Given the description of an element on the screen output the (x, y) to click on. 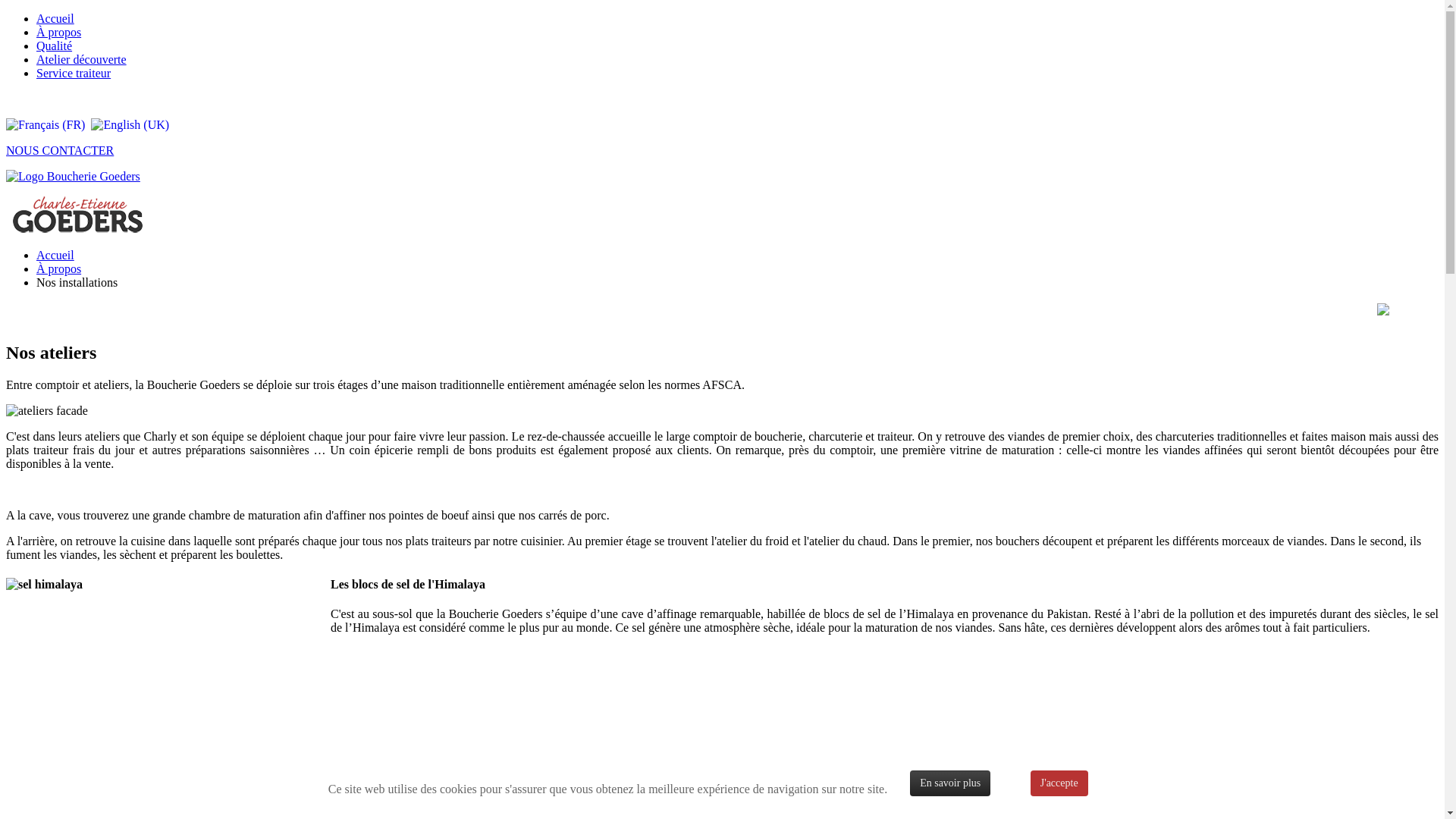
Suivant Element type: text (348, 807)
Accueil Element type: text (55, 254)
English (UK) Element type: hover (130, 124)
NOUS CONTACTER Element type: text (59, 150)
En savoir plus Element type: text (950, 783)
J'accepte Element type: text (1059, 783)
Service traiteur Element type: text (73, 72)
 E-shop Element type: text (24, 98)
Accueil Element type: text (55, 18)
